Given the description of an element on the screen output the (x, y) to click on. 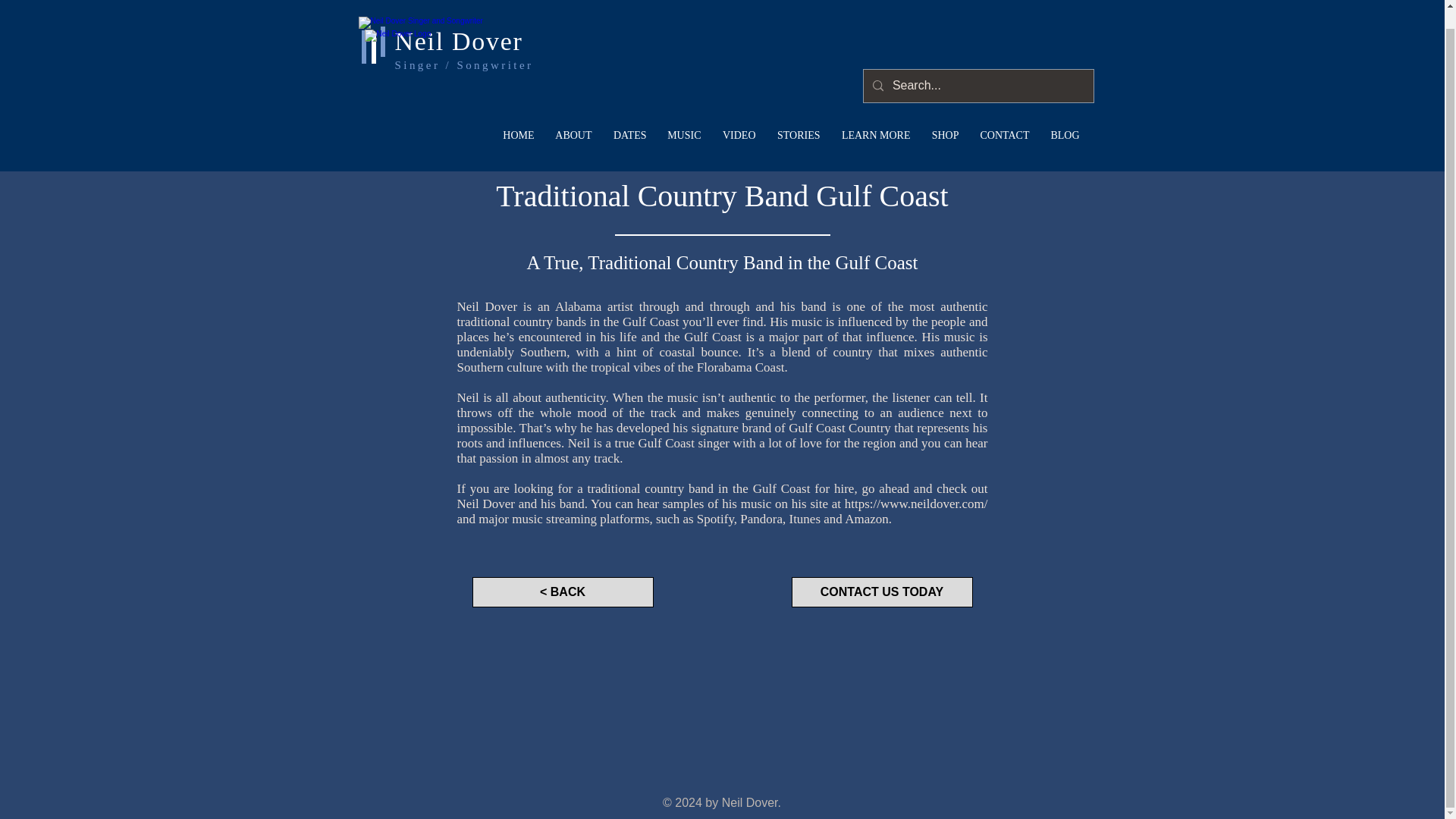
VIDEO (738, 117)
STORIES (797, 117)
CONTACT (1004, 117)
CONTACT US TODAY (882, 592)
BLOG (1064, 117)
SHOP (944, 117)
DATES (629, 117)
HOME (518, 117)
MUSIC (683, 117)
ABOUT (573, 117)
